Given the description of an element on the screen output the (x, y) to click on. 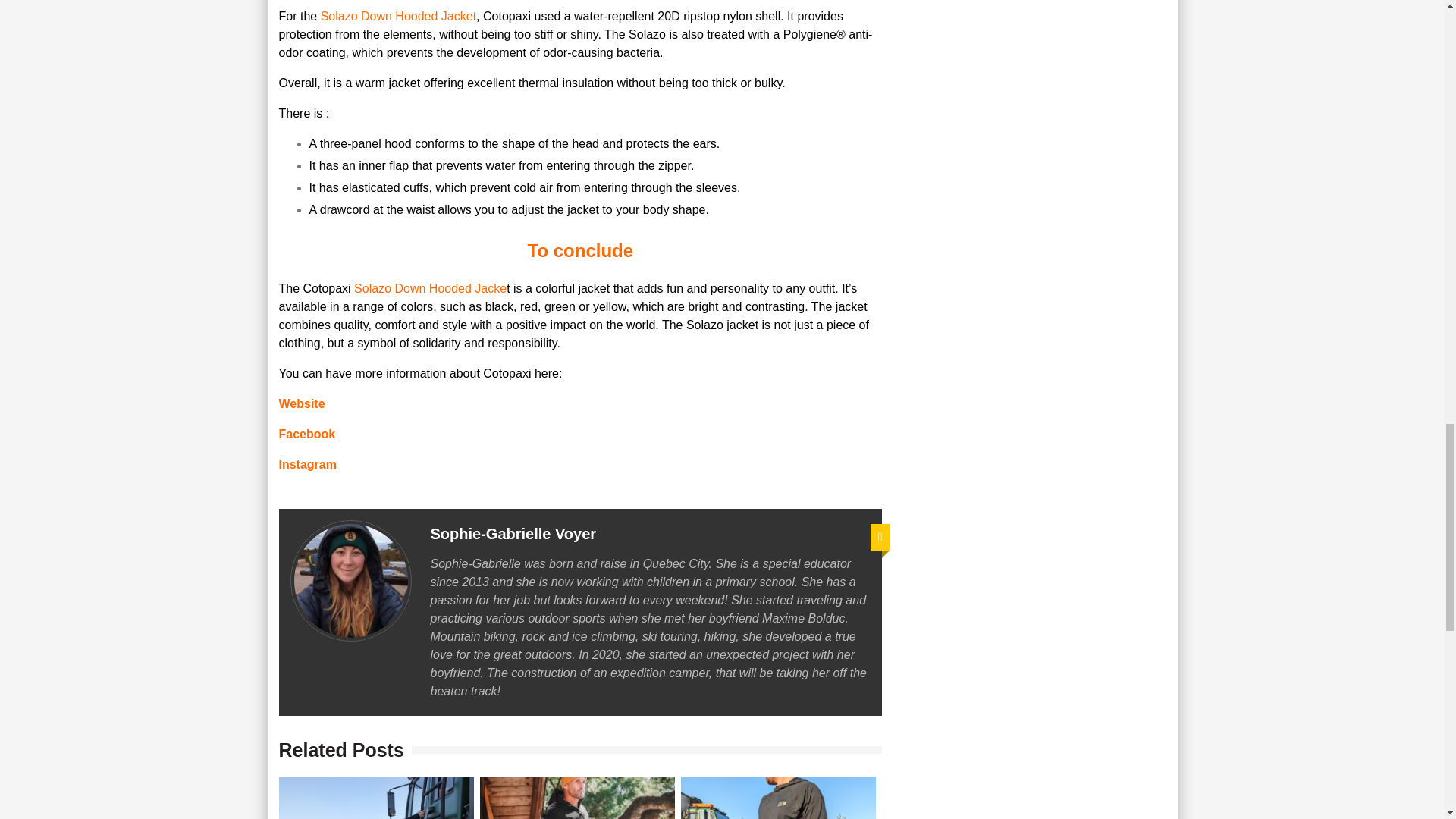
Posts by Sophie-Gabrielle Voyer (513, 533)
Follow Sophie-Gabrielle Voyer on Instagram (879, 537)
ROARK LAYOVER 2.0 JACKET REVIEW (577, 797)
MOUNTAIN HARDWEAR CRATER LAKE HOODY REVIEW (778, 797)
